Given the description of an element on the screen output the (x, y) to click on. 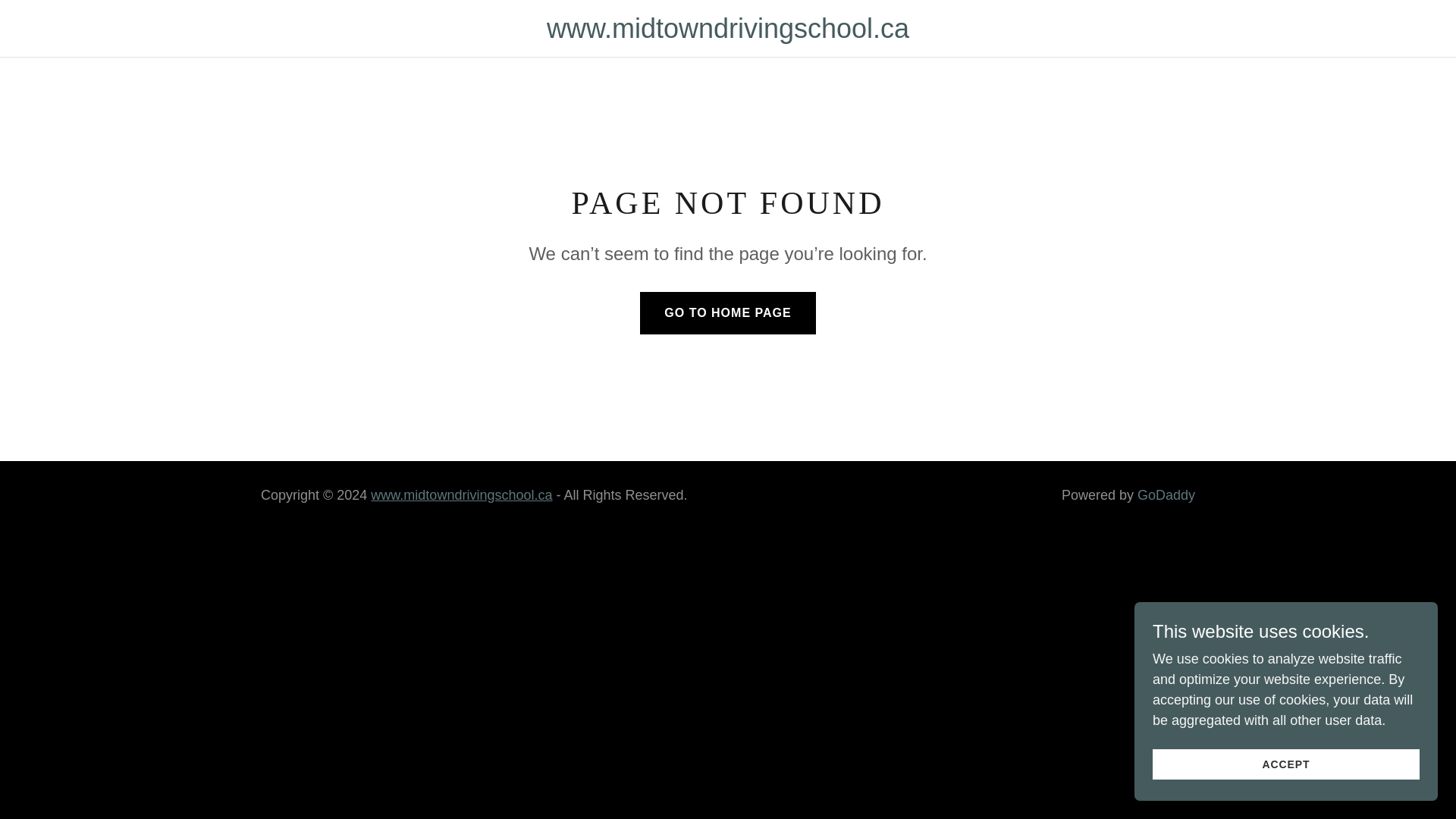
GO TO HOME PAGE (727, 312)
www.midtowndrivingschool.ca (461, 494)
GoDaddy (1166, 494)
www.midtowndrivingschool.ca (727, 32)
www.midtowndrivingschool.ca (727, 32)
ACCEPT (1286, 764)
